Given the description of an element on the screen output the (x, y) to click on. 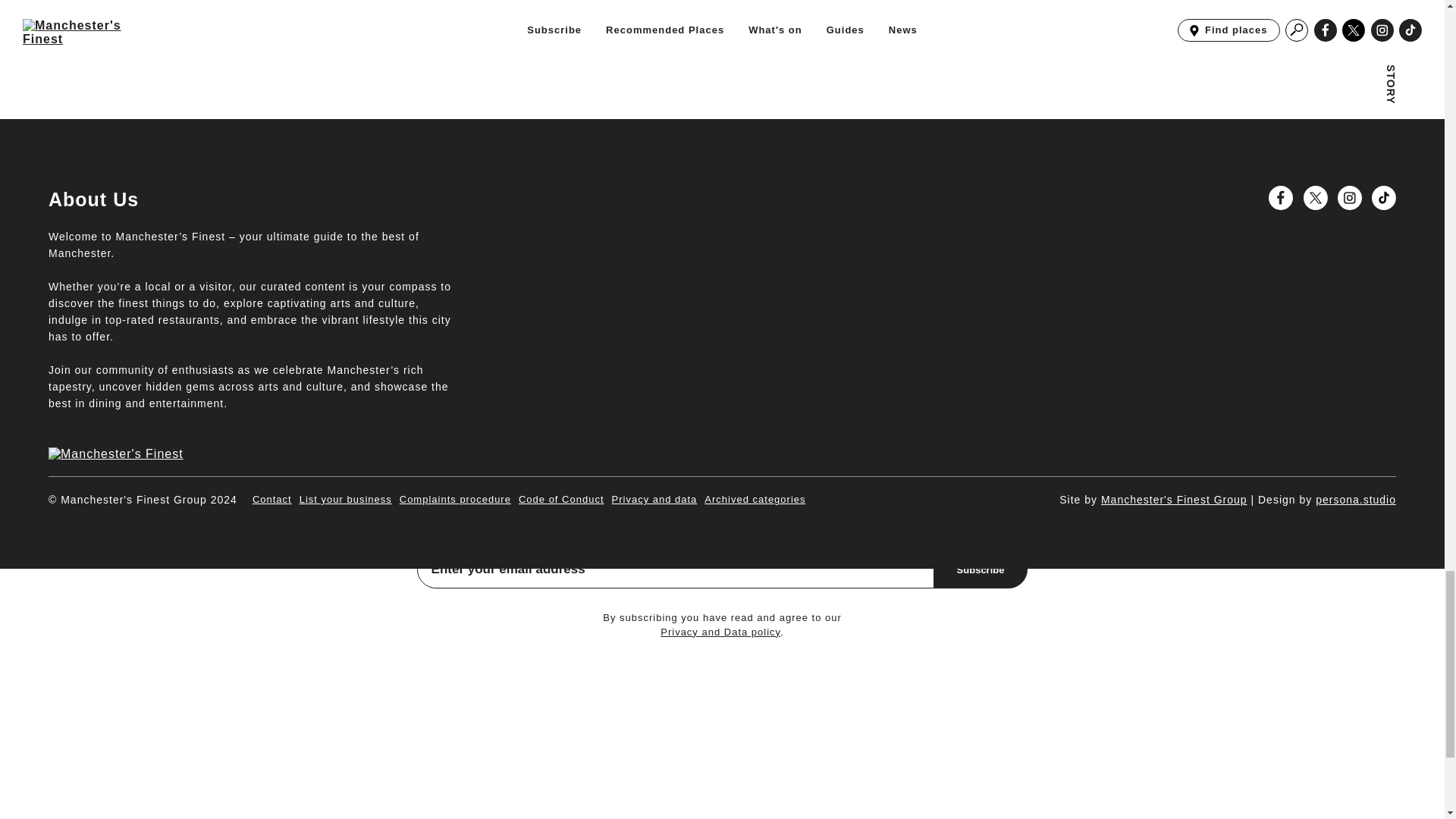
Go to Manchester's Finest Facebook page (1280, 197)
Go to Manchester's Finest X profile (1315, 197)
Go to Manchester's Finest TikTok profile (1383, 197)
Go to Manchester's Finest Instagram profile (1349, 197)
